Given the description of an element on the screen output the (x, y) to click on. 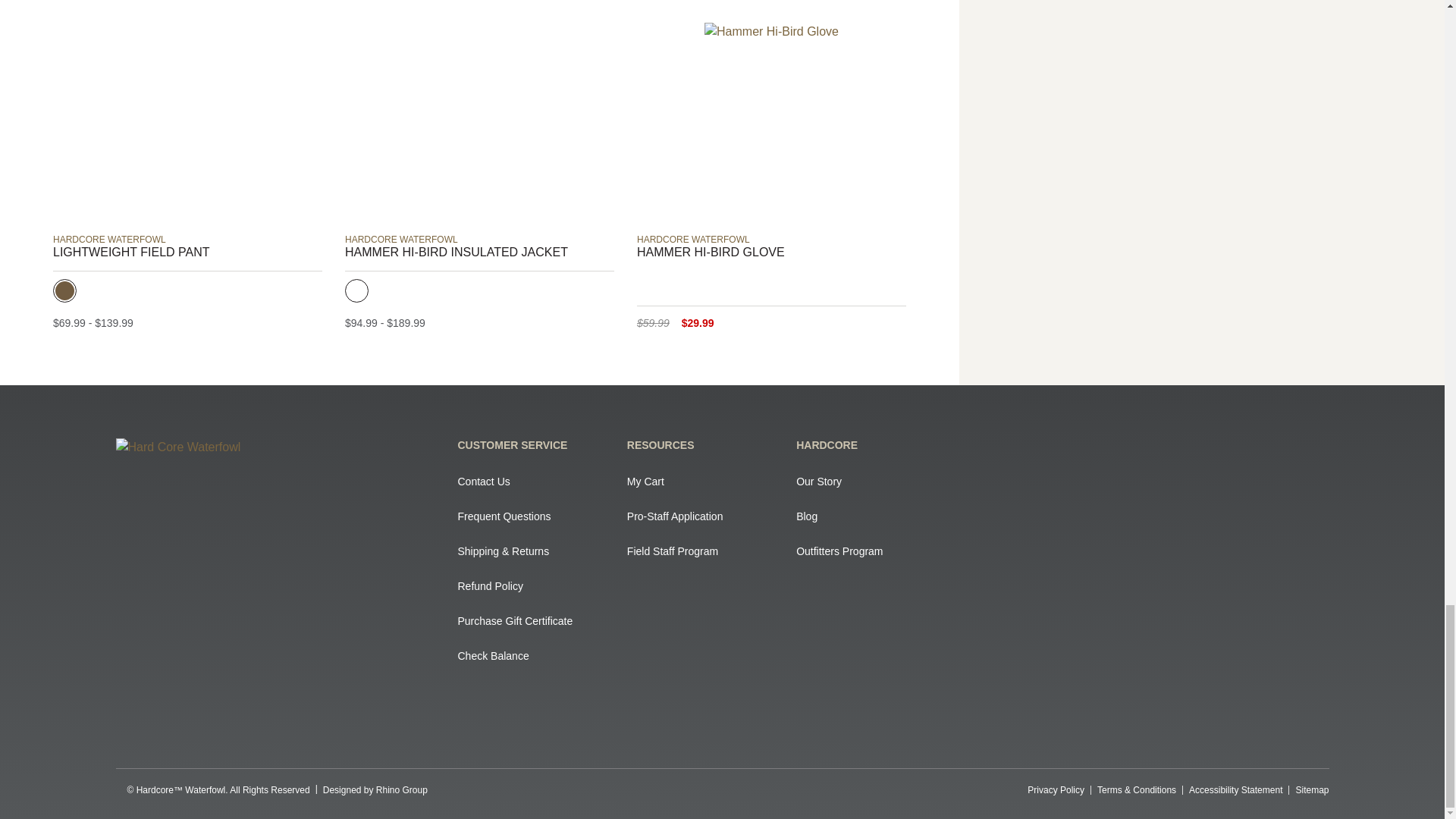
Hammer Hi-Bird Insulated Jacket (479, 113)
HAMMER HI-BIRD INSULATED JACKET (479, 251)
Pro-Staff Application (703, 515)
HAMMER HI-BIRD GLOVE (771, 251)
LIGHTWEIGHT FIELD PANT (186, 251)
MO Terra Bayou (89, 290)
MO Terra Bayou (356, 290)
Check Balance (534, 655)
Frequent Questions (534, 515)
Purchase Gift Certificate (534, 620)
